Given the description of an element on the screen output the (x, y) to click on. 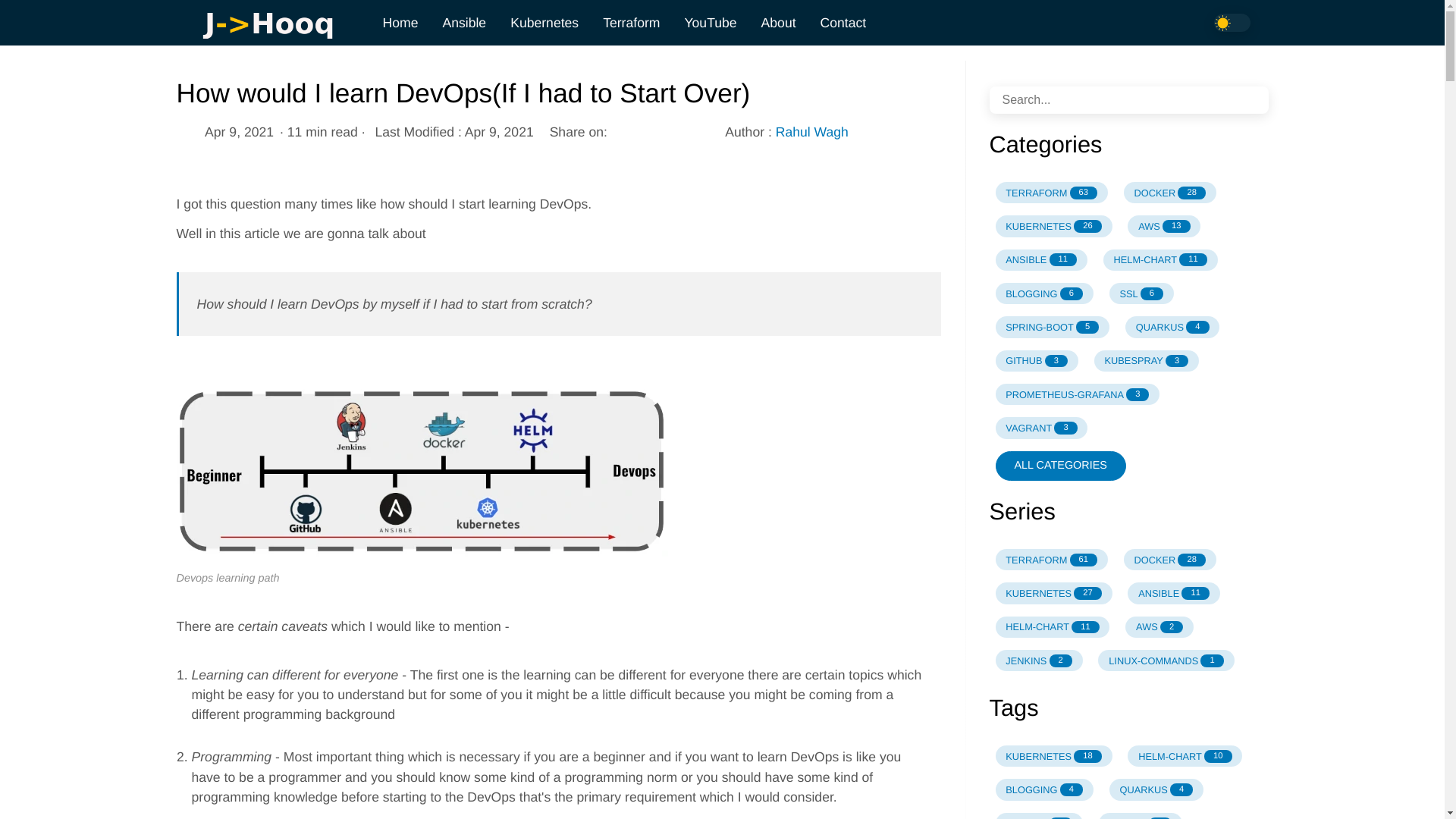
Home (399, 22)
Rahul Wagh (812, 131)
Share on Facebook (646, 131)
linkedin (1152, 22)
Copy Link (697, 131)
github (1096, 24)
About (778, 22)
copy (697, 131)
rss (1182, 24)
linkedin (1153, 24)
